Given the description of an element on the screen output the (x, y) to click on. 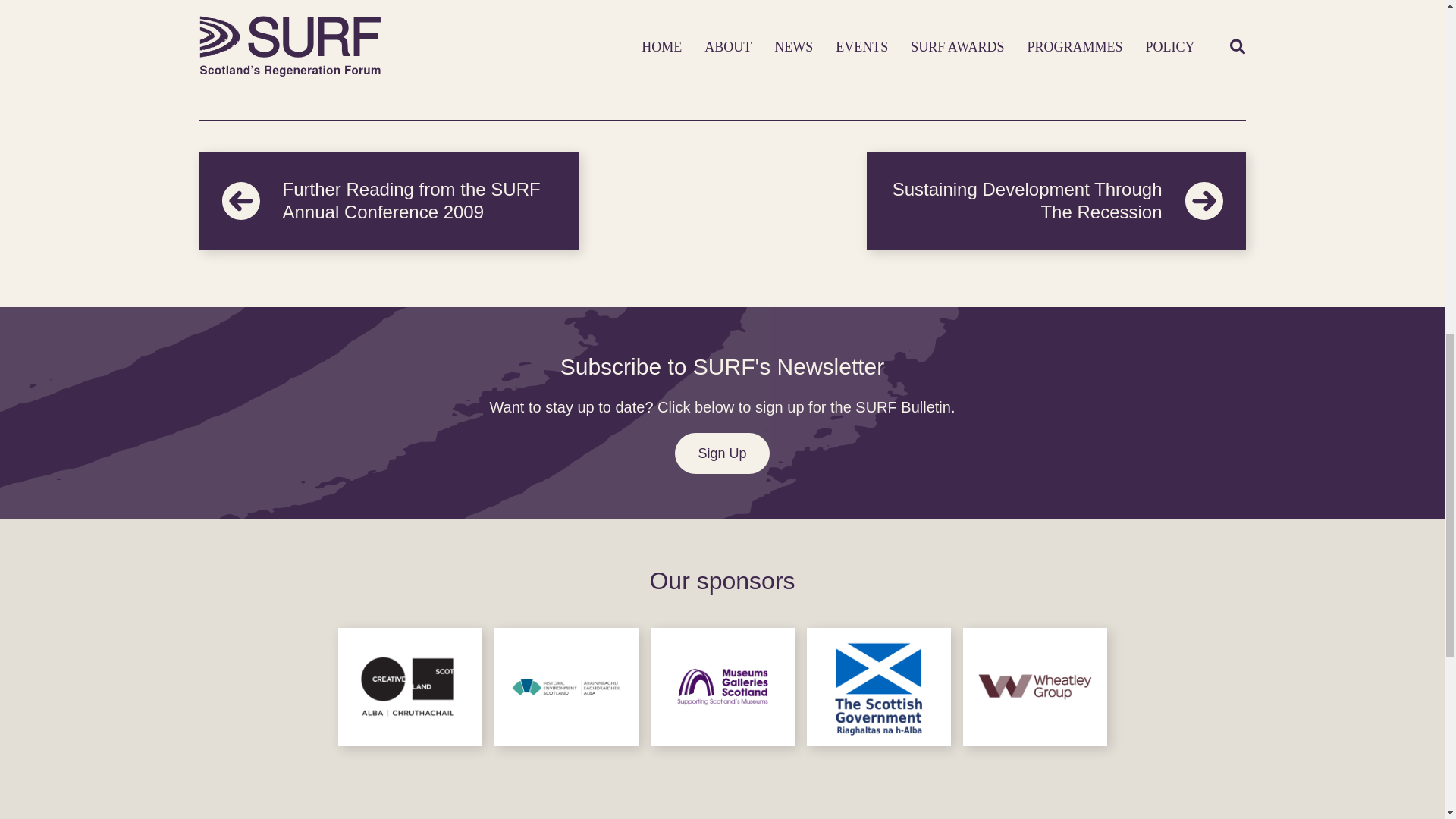
MGS-logo (722, 687)
Scotgov-logo (878, 687)
wheatley-logo (1034, 687)
HES-logo (567, 687)
creative-scot-logo-bw (409, 687)
